Given the description of an element on the screen output the (x, y) to click on. 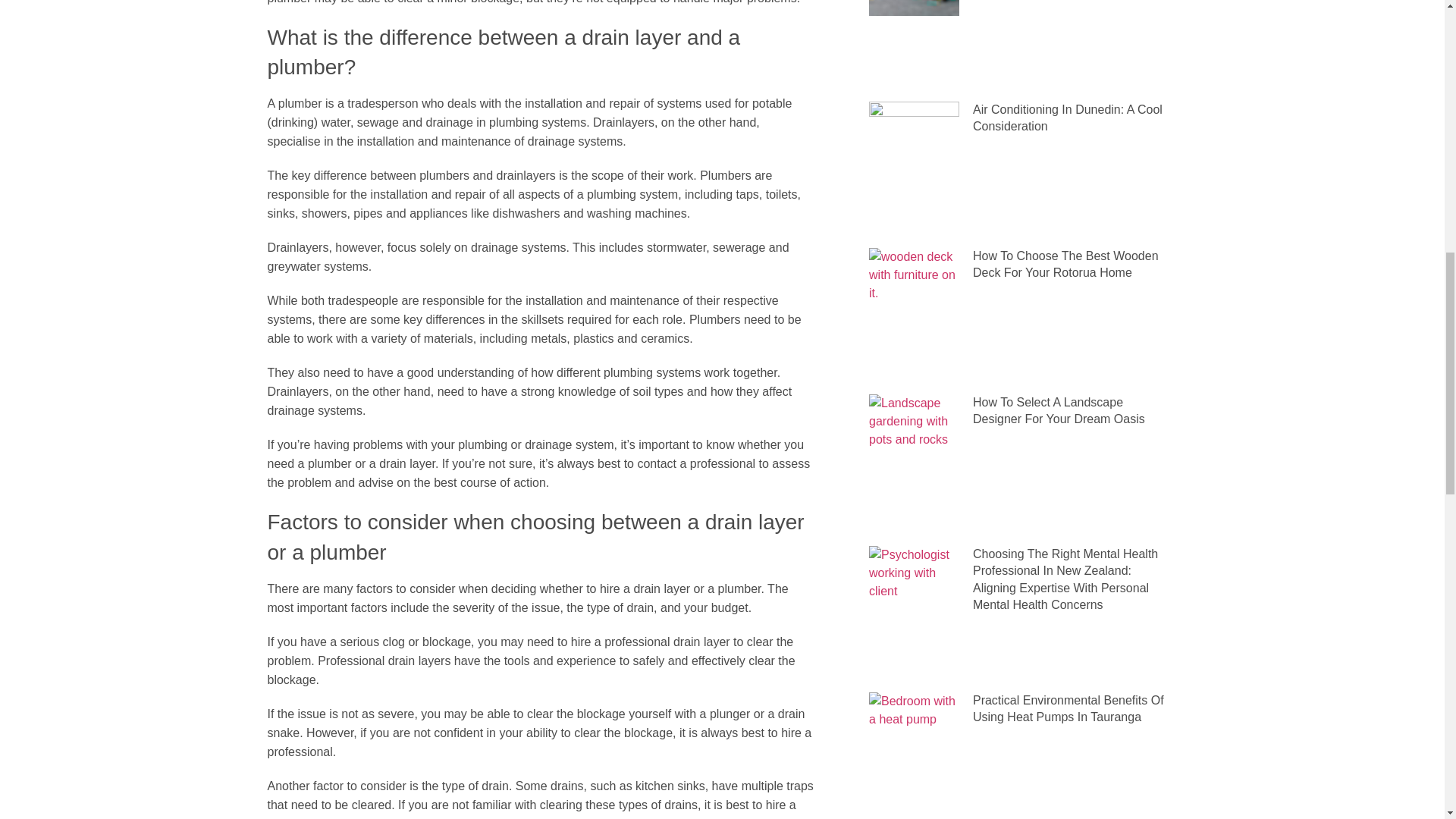
How To Select A Landscape Designer For Your Dream Oasis (1058, 410)
Air Conditioning In Dunedin: A Cool Consideration (1066, 117)
How To Choose The Best Wooden Deck For Your Rotorua Home (1065, 264)
